Given the description of an element on the screen output the (x, y) to click on. 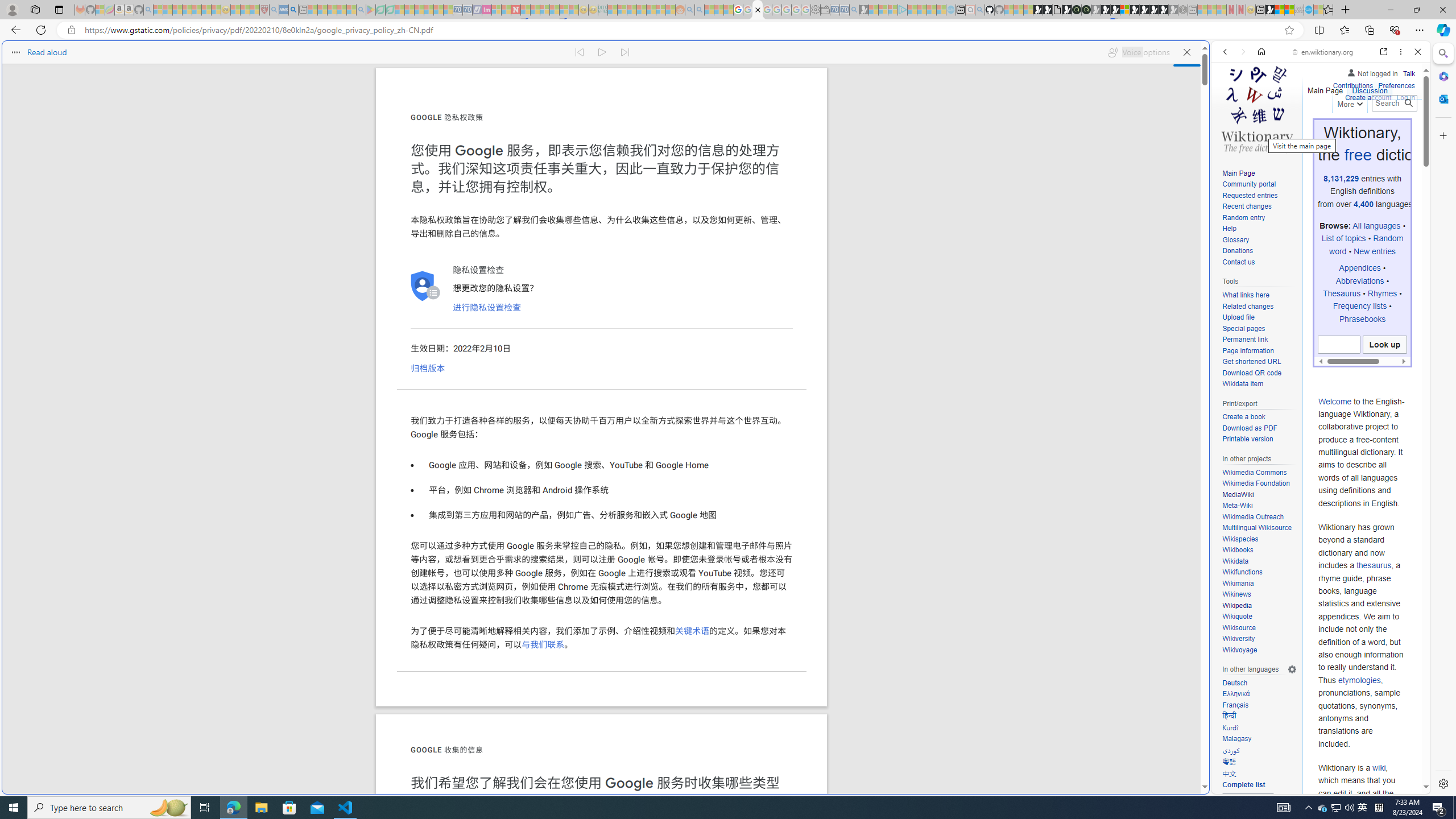
Page information (1247, 350)
Community portal (1248, 184)
